Given the description of an element on the screen output the (x, y) to click on. 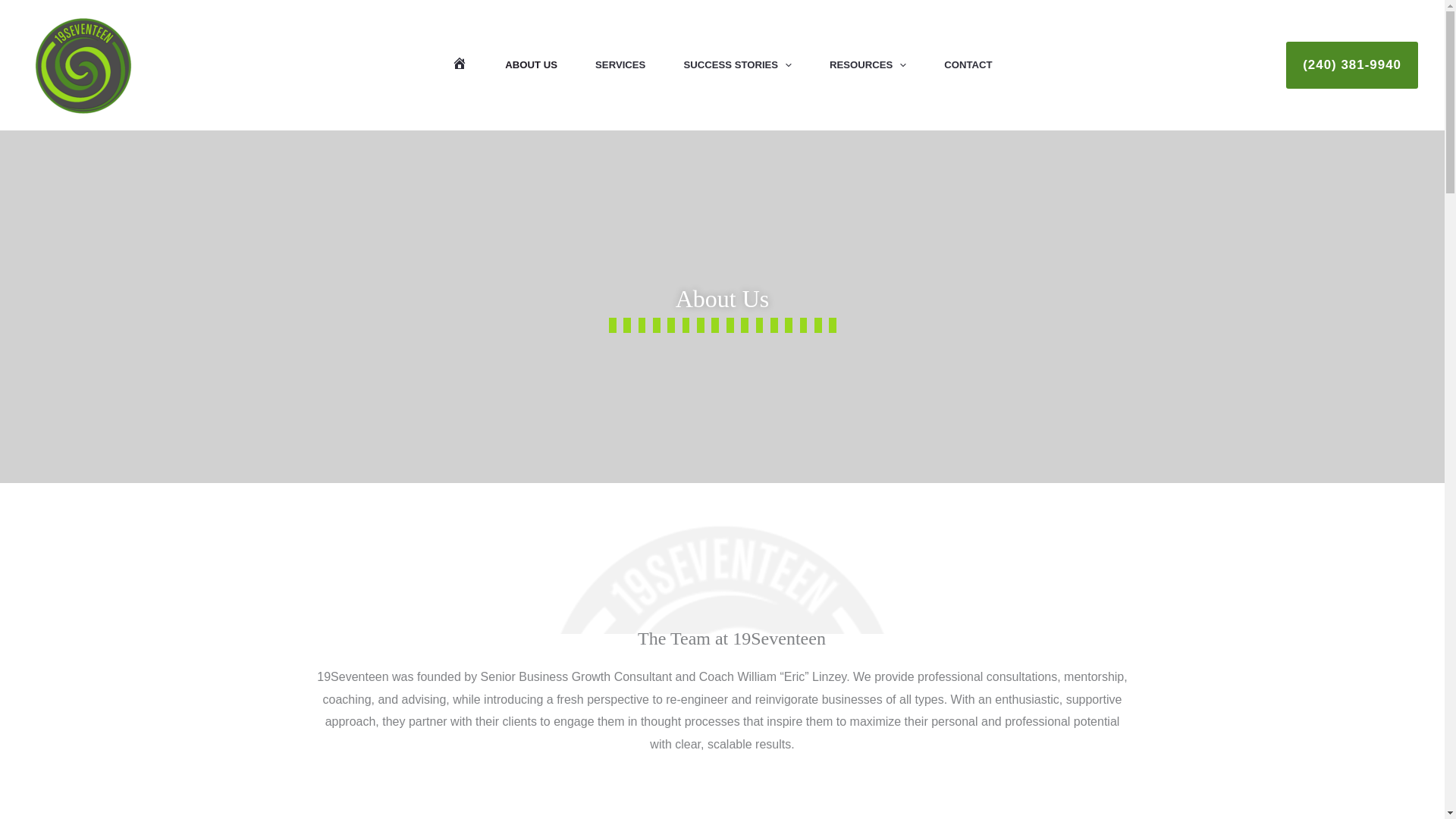
ABOUT US (531, 65)
SERVICES (619, 65)
CONTACT (967, 65)
SUCCESS STORIES (736, 65)
RESOURCES (867, 65)
